Given the description of an element on the screen output the (x, y) to click on. 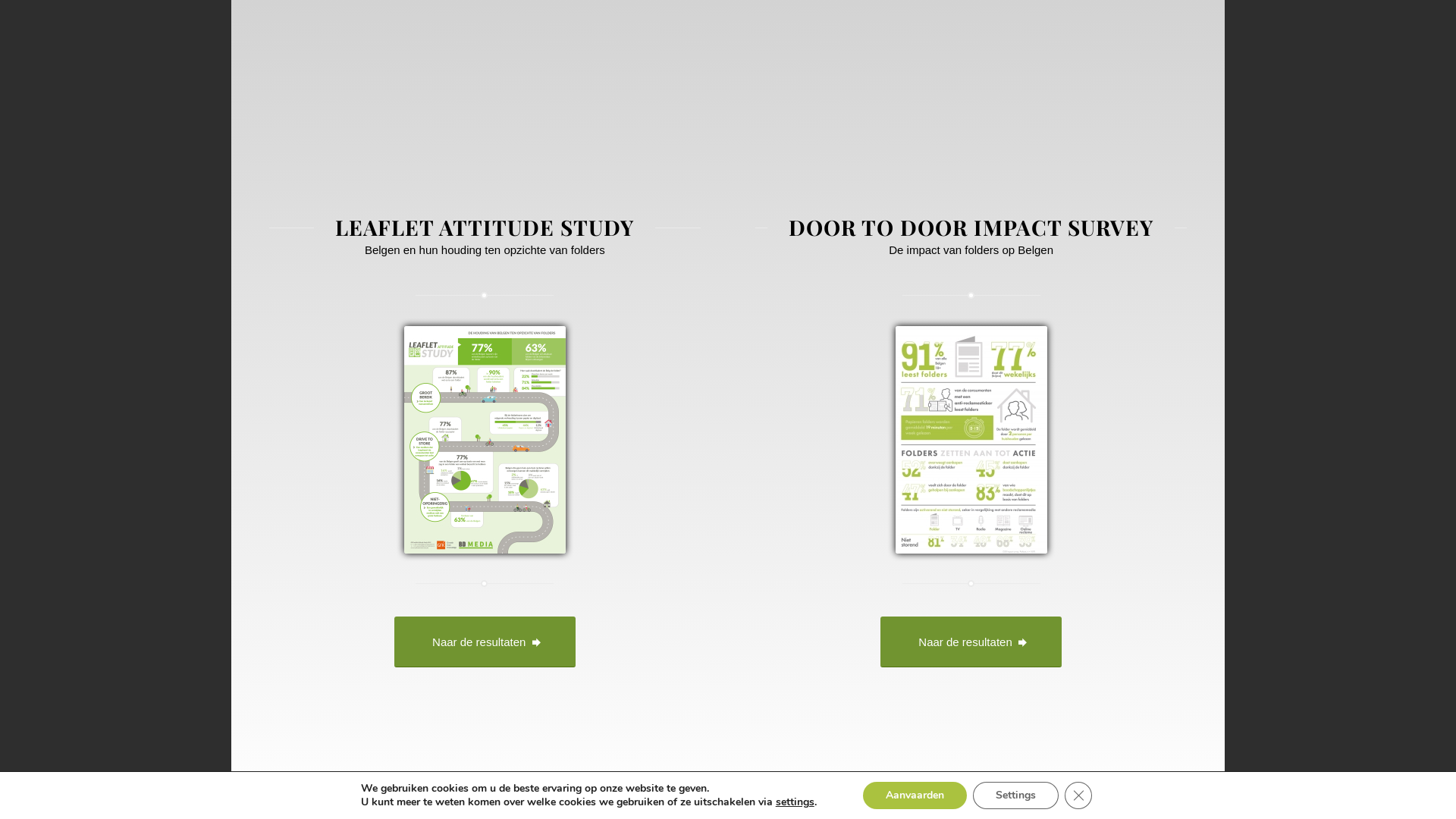
Naar de resultaten Element type: text (970, 641)
settings Element type: text (794, 802)
BDMedia_LAS_Infographic_v6 Element type: hover (484, 439)
Aanvaarden Element type: text (914, 795)
Settings Element type: text (1015, 795)
191542 BD-MYSHOPI_Re-Branding Brochure Impact Survey-v4.indd Element type: hover (971, 439)
Sluit AVG/GDPR cookie banner Element type: text (1078, 795)
Naar de resultaten Element type: text (484, 641)
